Given the description of an element on the screen output the (x, y) to click on. 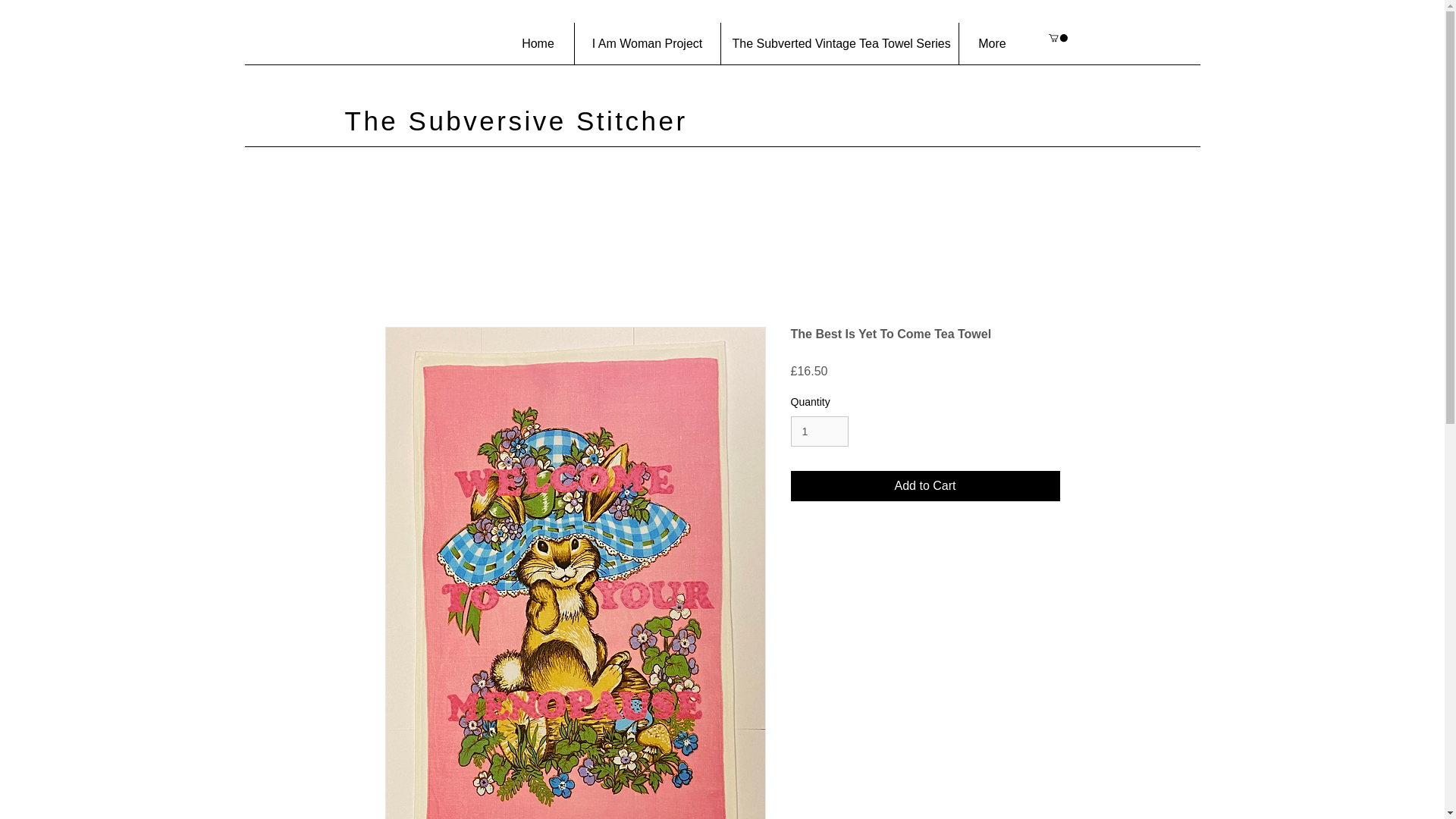
Home (537, 43)
1 (818, 431)
The Subverted Vintage Tea Towel Series (839, 43)
The Subversive Stitcher (515, 136)
Add to Cart (924, 485)
I Am Woman Project (647, 43)
